Given the description of an element on the screen output the (x, y) to click on. 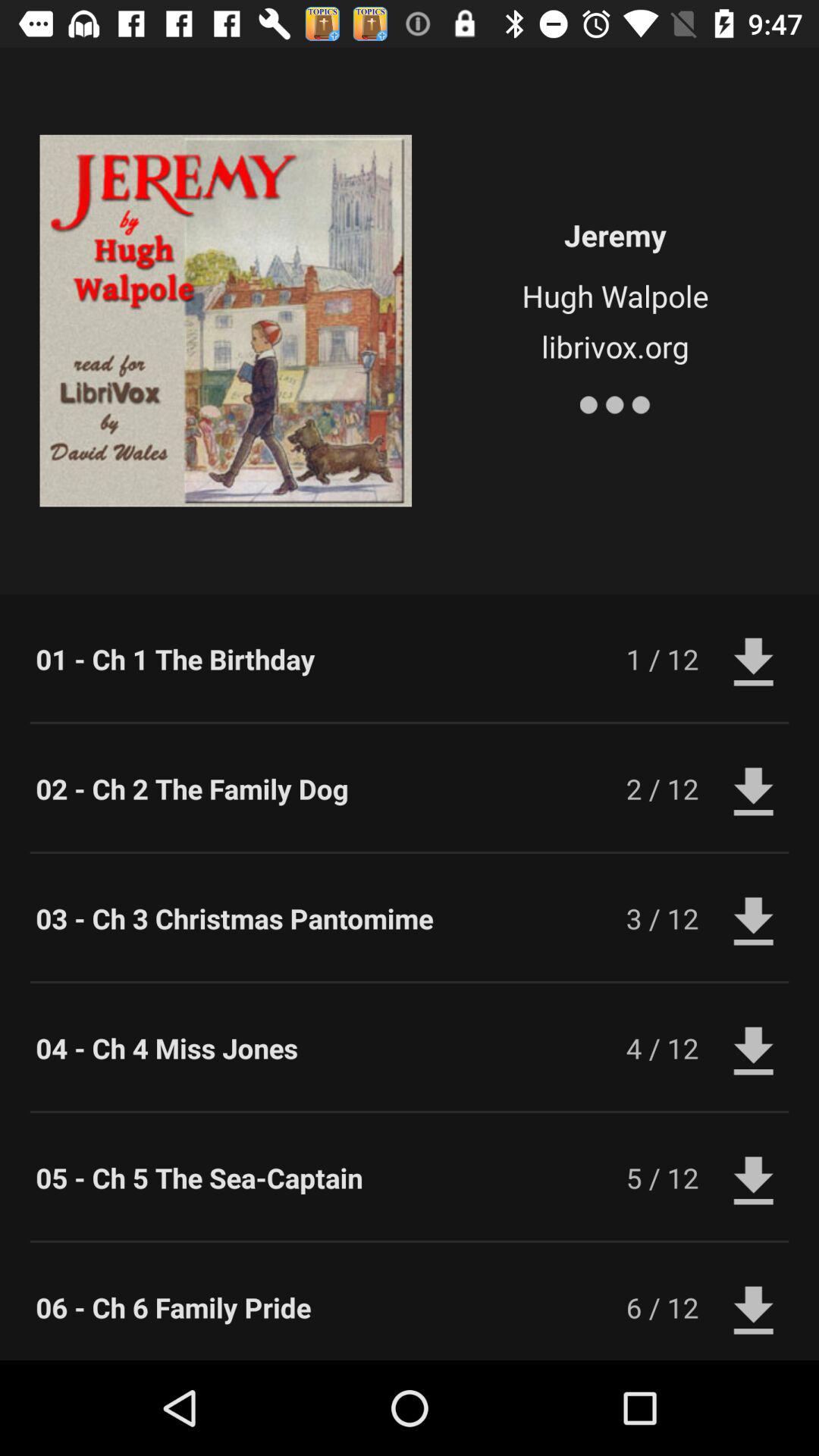
launch icon below librivox.org icon (615, 401)
